Given the description of an element on the screen output the (x, y) to click on. 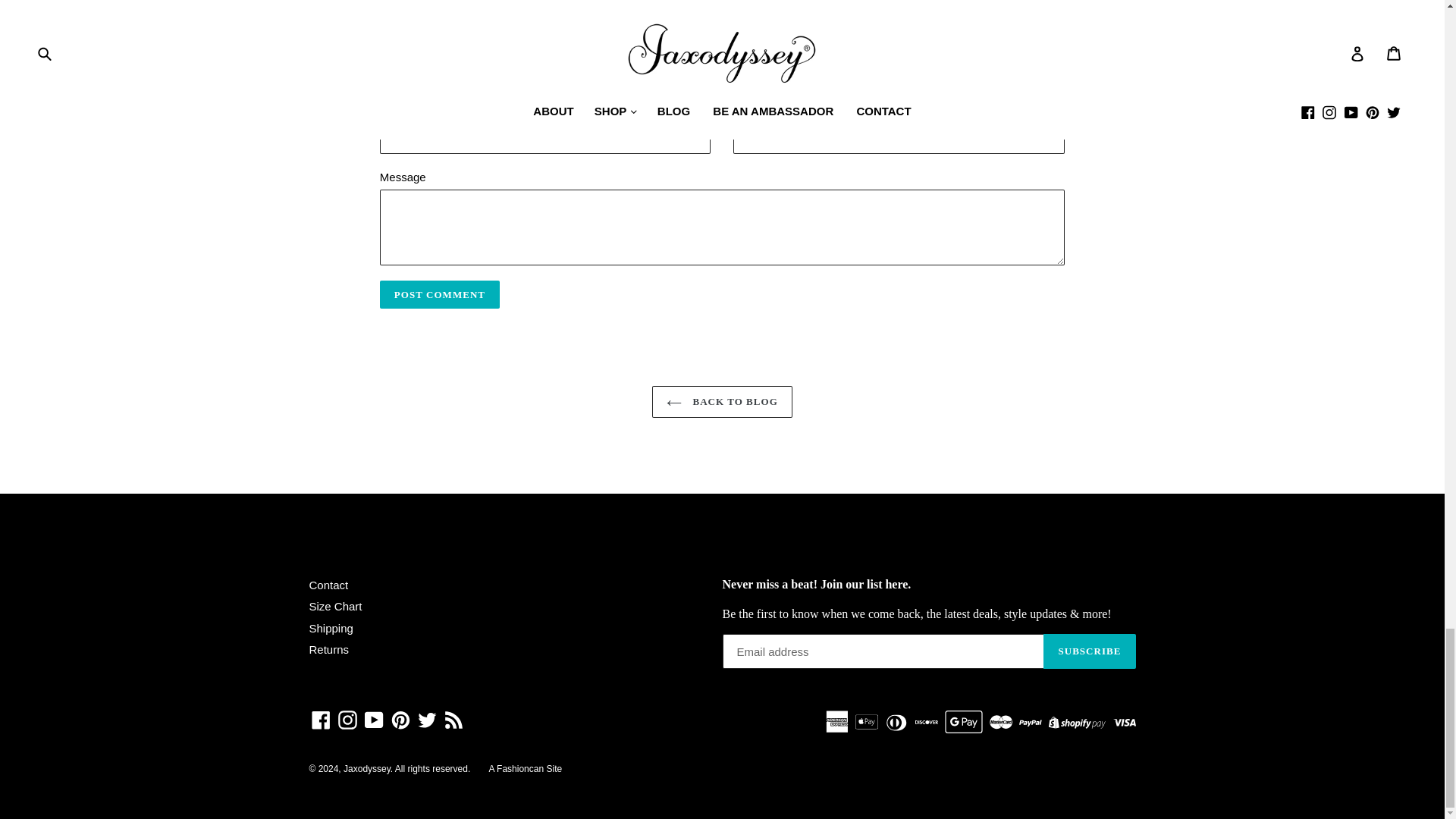
Post comment (439, 294)
